Given the description of an element on the screen output the (x, y) to click on. 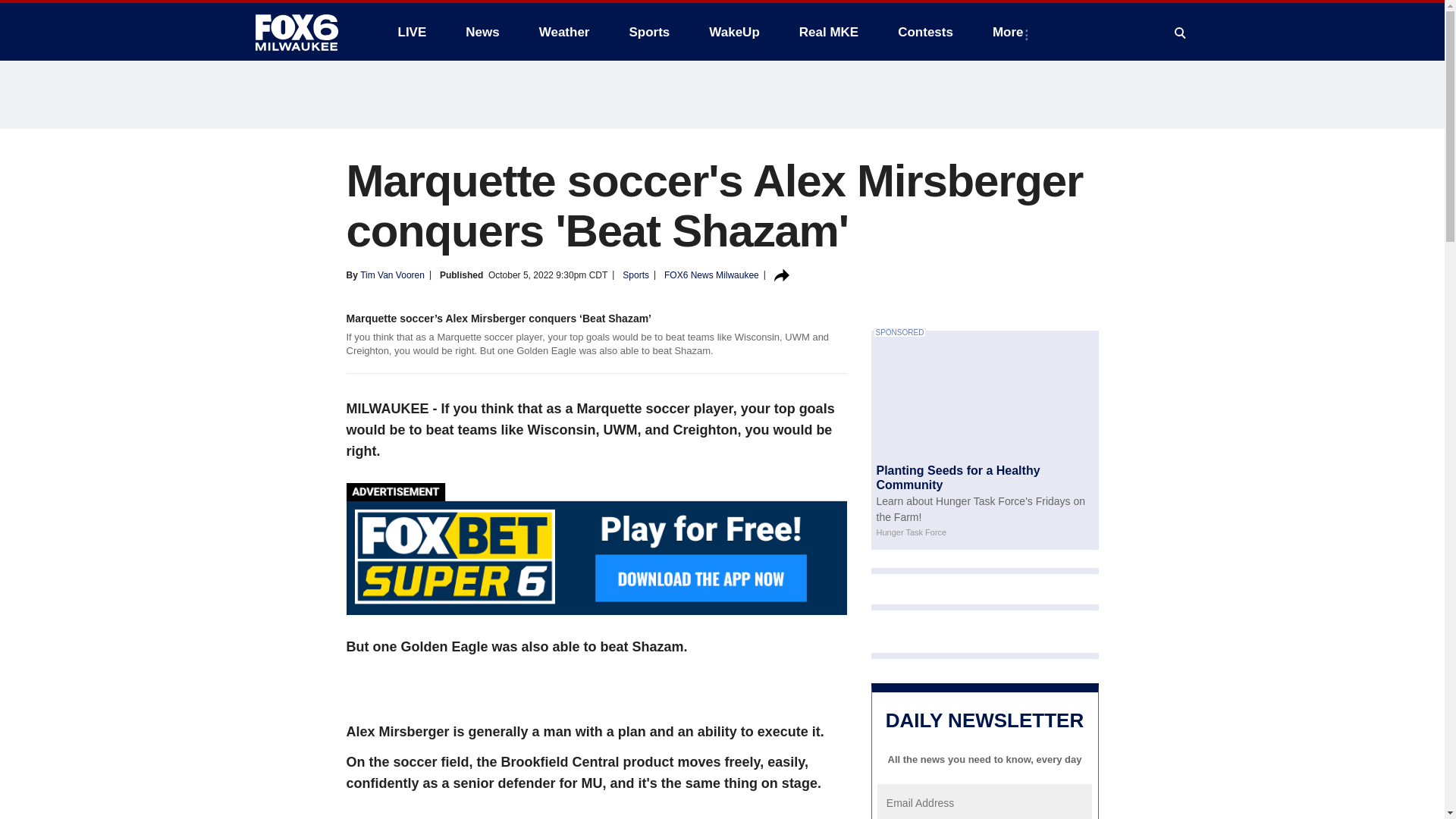
News (481, 32)
Real MKE (828, 32)
Sports (648, 32)
More (1010, 32)
Contests (925, 32)
LIVE (411, 32)
WakeUp (734, 32)
Weather (564, 32)
